Given the description of an element on the screen output the (x, y) to click on. 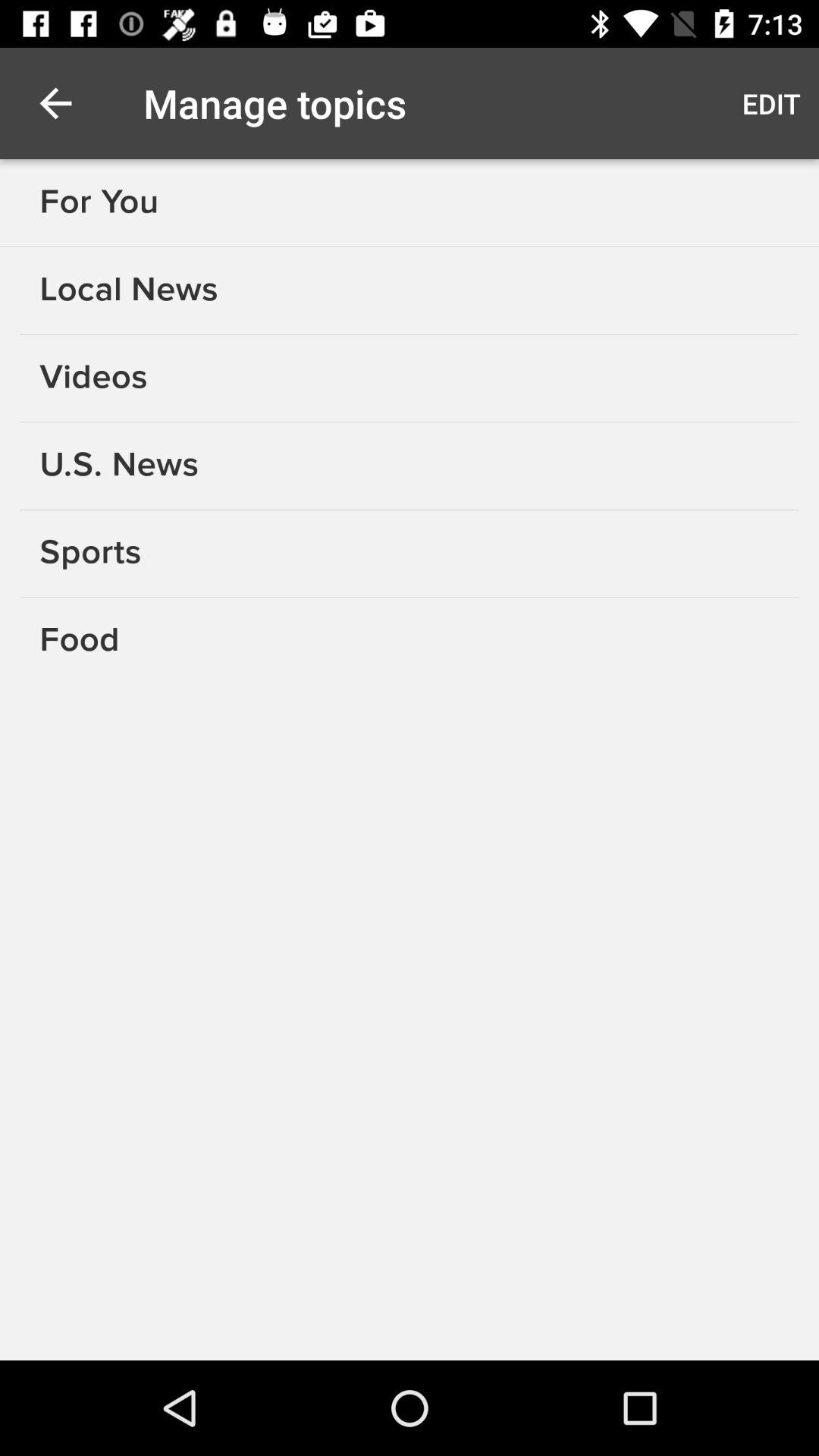
choose edit (771, 103)
